Given the description of an element on the screen output the (x, y) to click on. 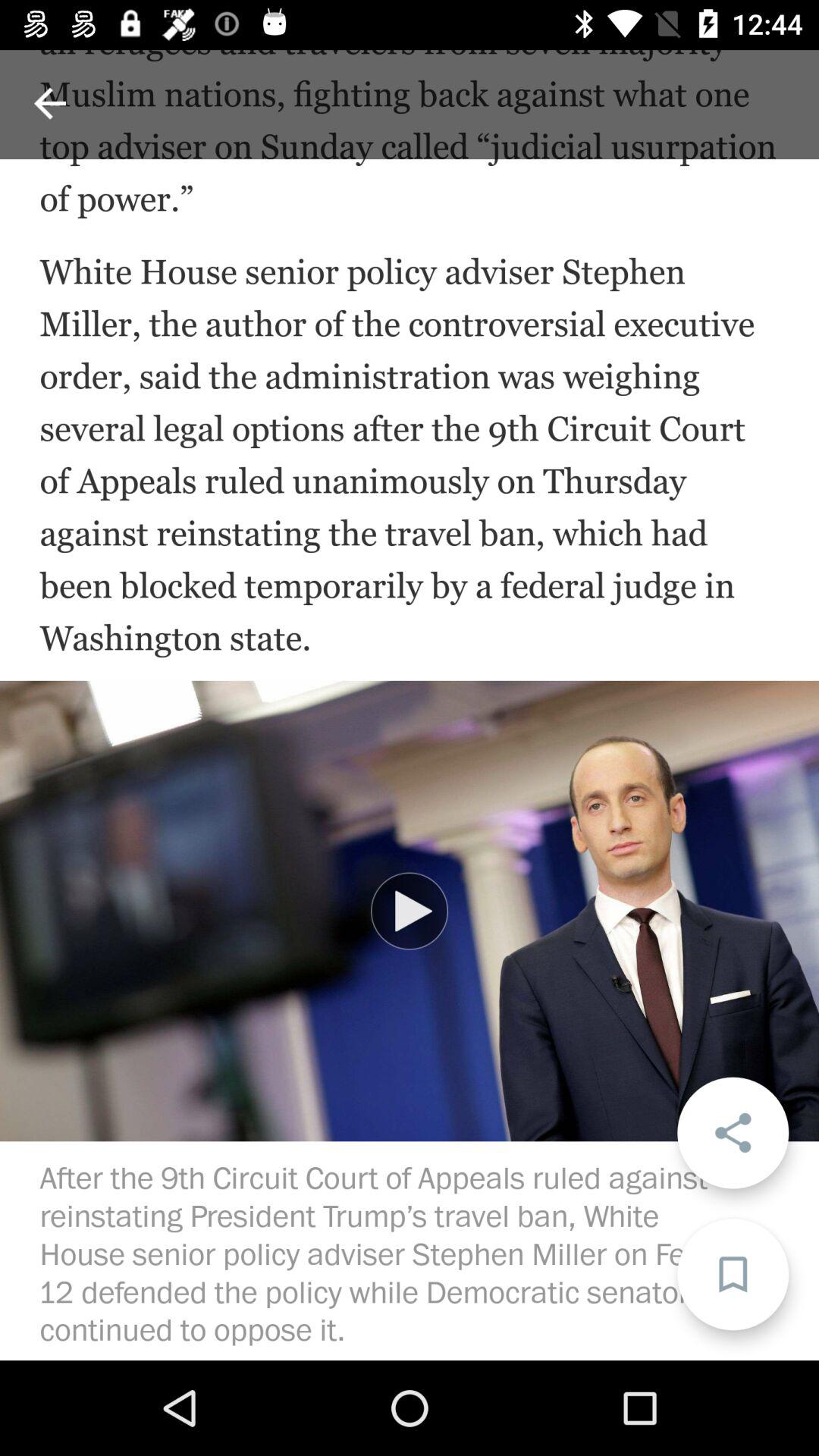
choose item at the center (409, 910)
